Given the description of an element on the screen output the (x, y) to click on. 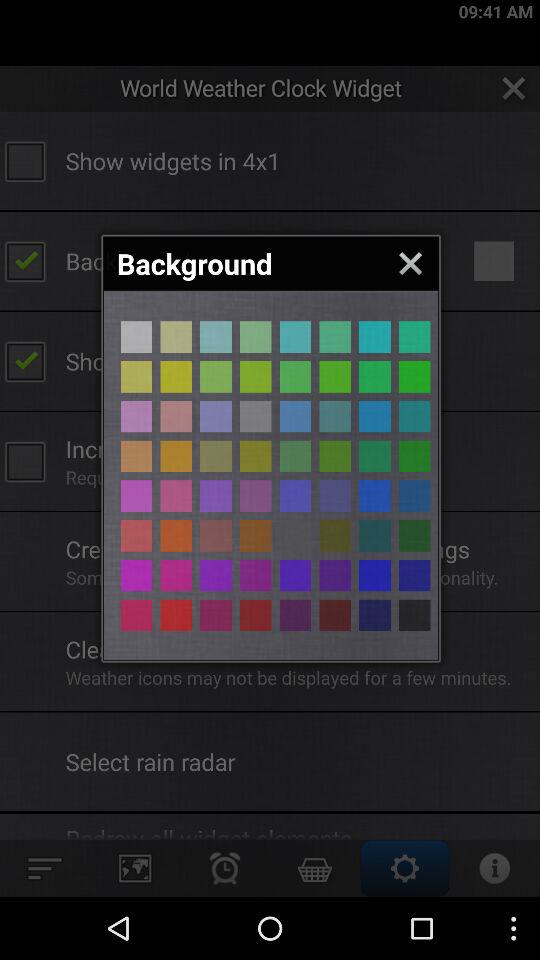
color button (295, 336)
